Given the description of an element on the screen output the (x, y) to click on. 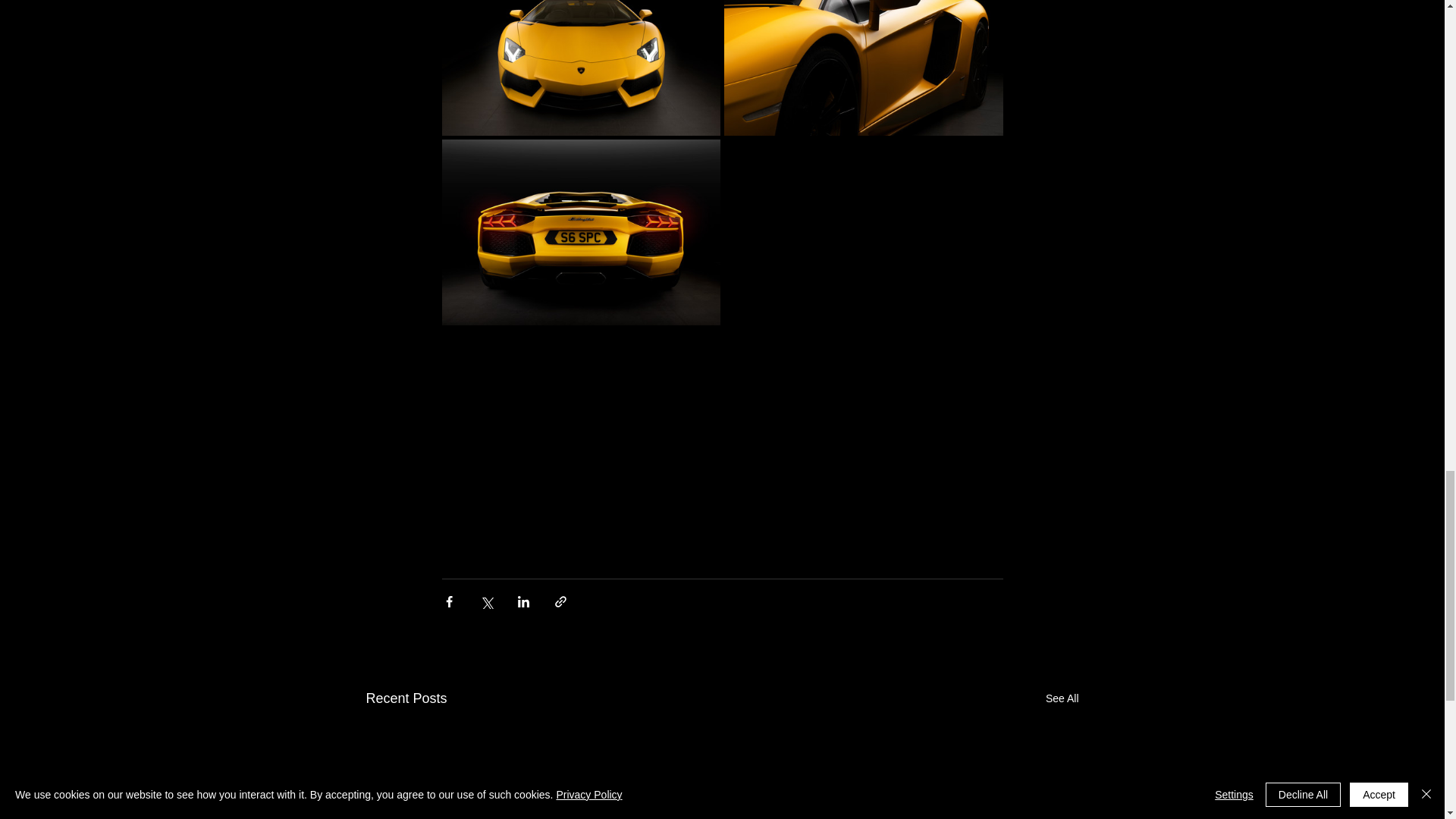
See All (1061, 698)
